Given the description of an element on the screen output the (x, y) to click on. 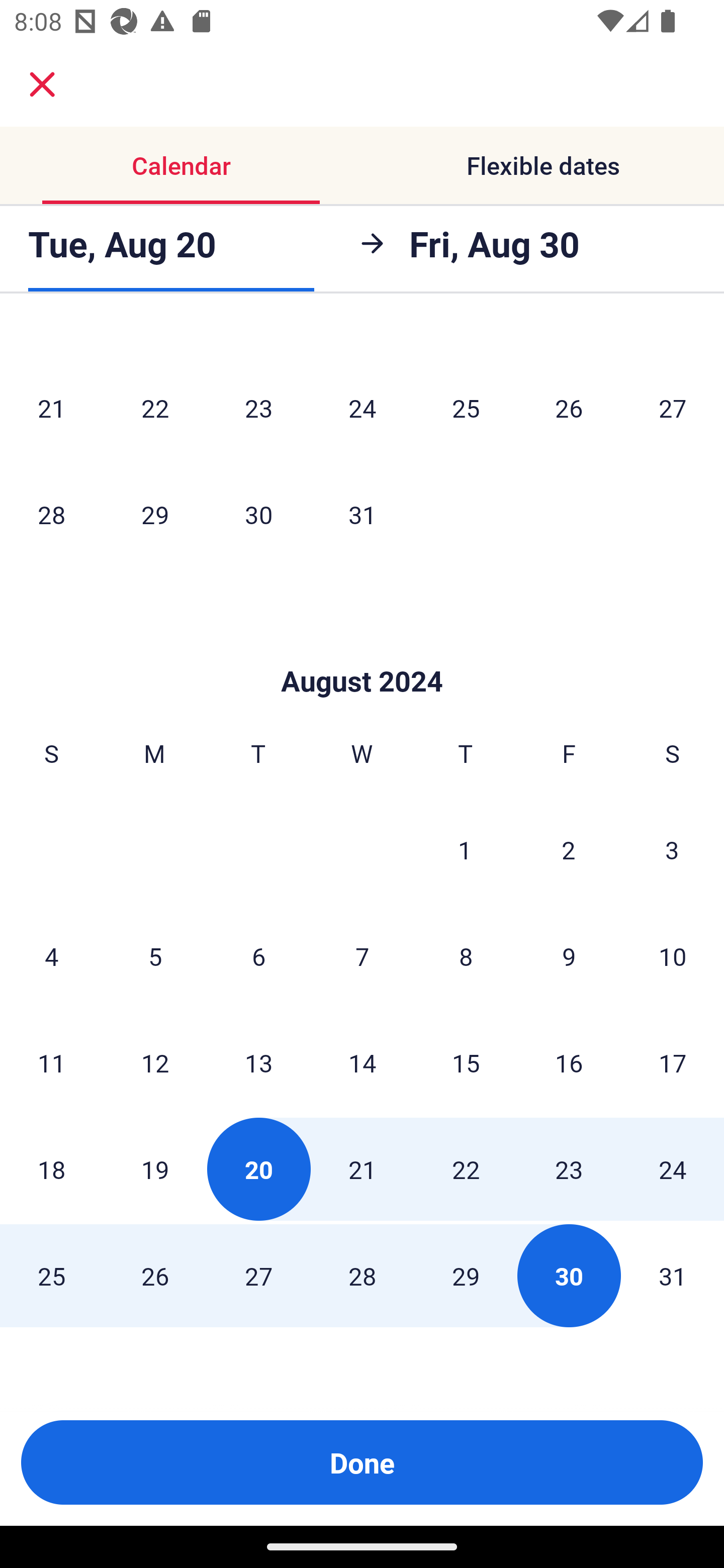
close. (42, 84)
Flexible dates (542, 164)
21 Sunday, July 21, 2024 (51, 407)
22 Monday, July 22, 2024 (155, 407)
23 Tuesday, July 23, 2024 (258, 407)
24 Wednesday, July 24, 2024 (362, 407)
25 Thursday, July 25, 2024 (465, 407)
26 Friday, July 26, 2024 (569, 407)
27 Saturday, July 27, 2024 (672, 407)
28 Sunday, July 28, 2024 (51, 514)
29 Monday, July 29, 2024 (155, 514)
30 Tuesday, July 30, 2024 (258, 514)
31 Wednesday, July 31, 2024 (362, 514)
Skip to Done (362, 650)
1 Thursday, August 1, 2024 (464, 849)
2 Friday, August 2, 2024 (568, 849)
3 Saturday, August 3, 2024 (672, 849)
4 Sunday, August 4, 2024 (51, 956)
5 Monday, August 5, 2024 (155, 956)
6 Tuesday, August 6, 2024 (258, 956)
